Given the description of an element on the screen output the (x, y) to click on. 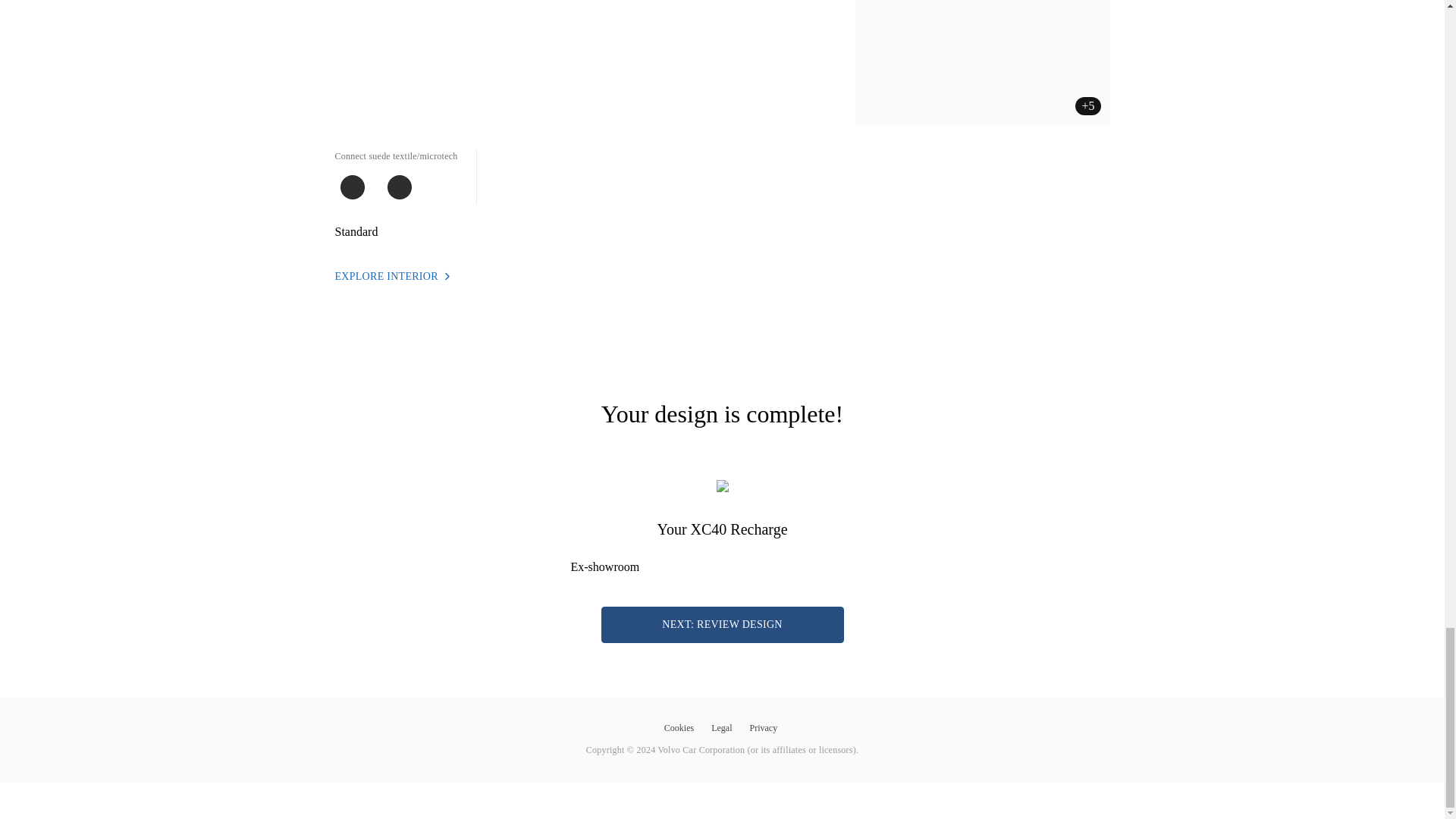
Cookies (680, 726)
Legal (723, 726)
Privacy (764, 726)
